Given the description of an element on the screen output the (x, y) to click on. 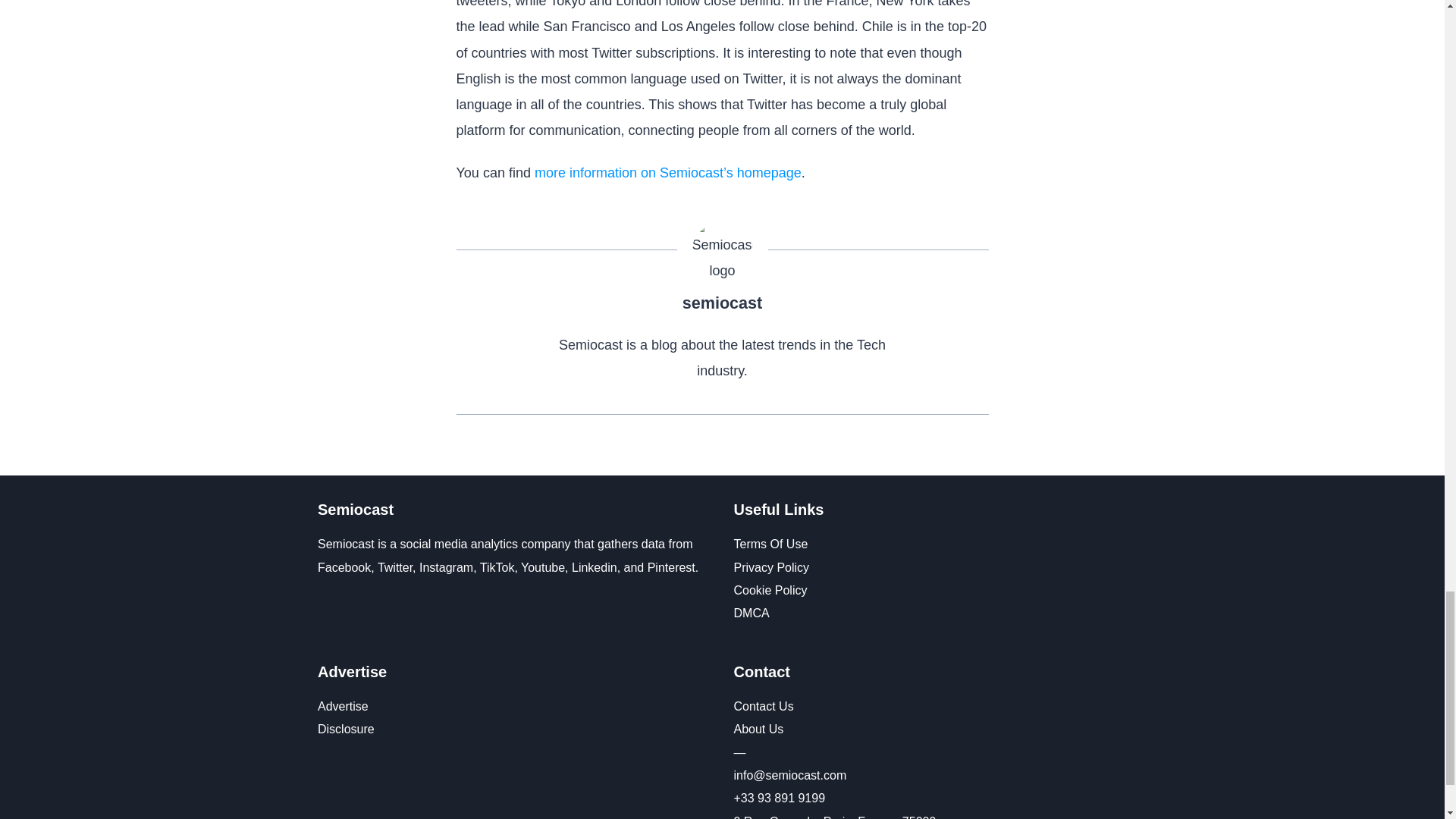
Facebook (344, 567)
Cookie Policy (770, 590)
Disclosure (345, 728)
Twitter (394, 567)
Advertise (342, 706)
Contact Us (763, 706)
DMCA (751, 612)
9 Rue Gerando, Paris, France, 75009 (834, 816)
Linkedin (594, 567)
Privacy Policy (771, 567)
